Given the description of an element on the screen output the (x, y) to click on. 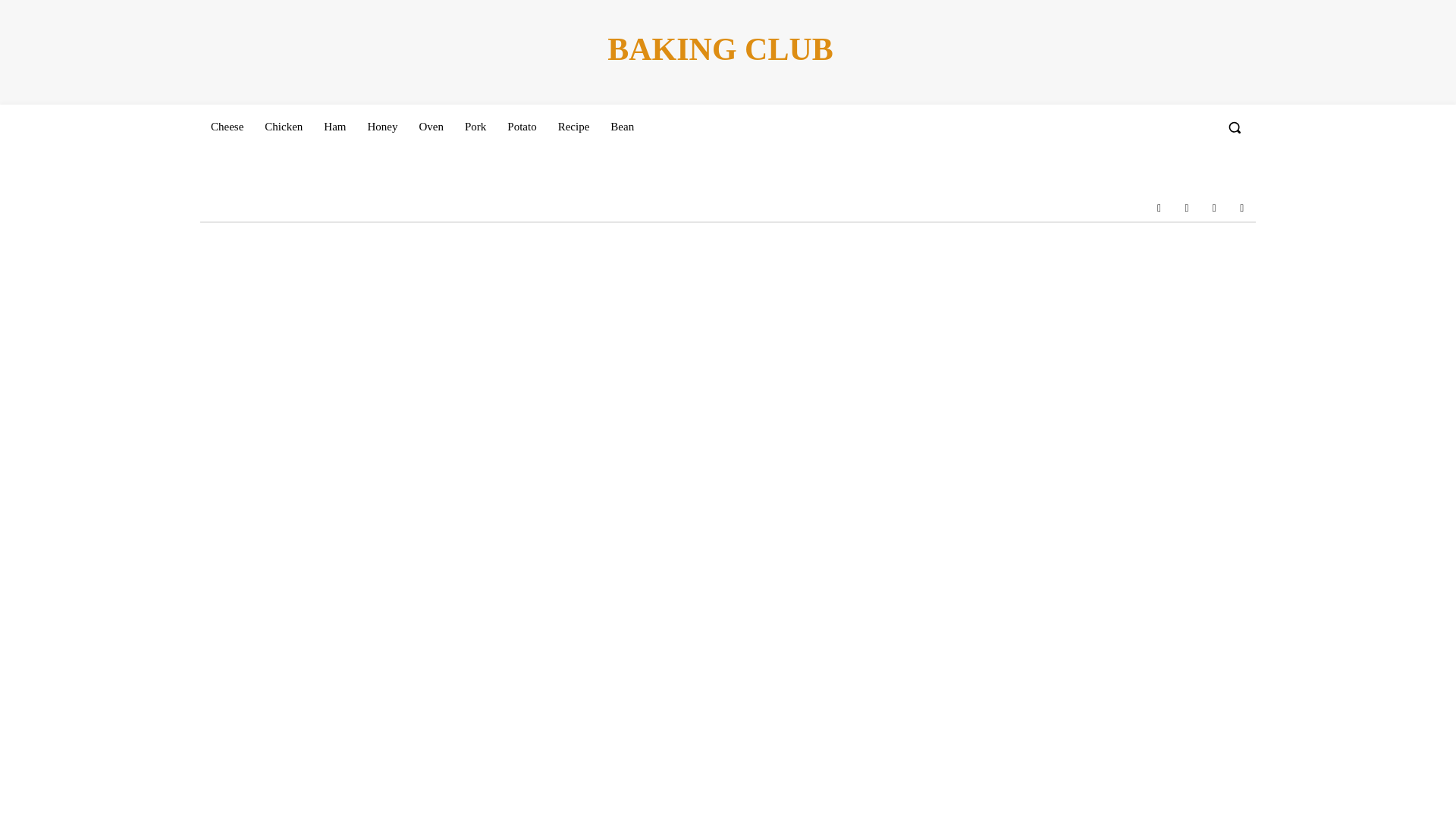
Instagram (1186, 207)
Potato (521, 126)
Honey (381, 126)
BAKING CLUB (720, 49)
Pork (475, 126)
Youtube (1241, 207)
Recipe (573, 126)
Oven (430, 126)
Chicken (283, 126)
VKontakte (1213, 207)
Cheese (226, 126)
Bean (622, 126)
Facebook (1158, 207)
Ham (334, 126)
